Given the description of an element on the screen output the (x, y) to click on. 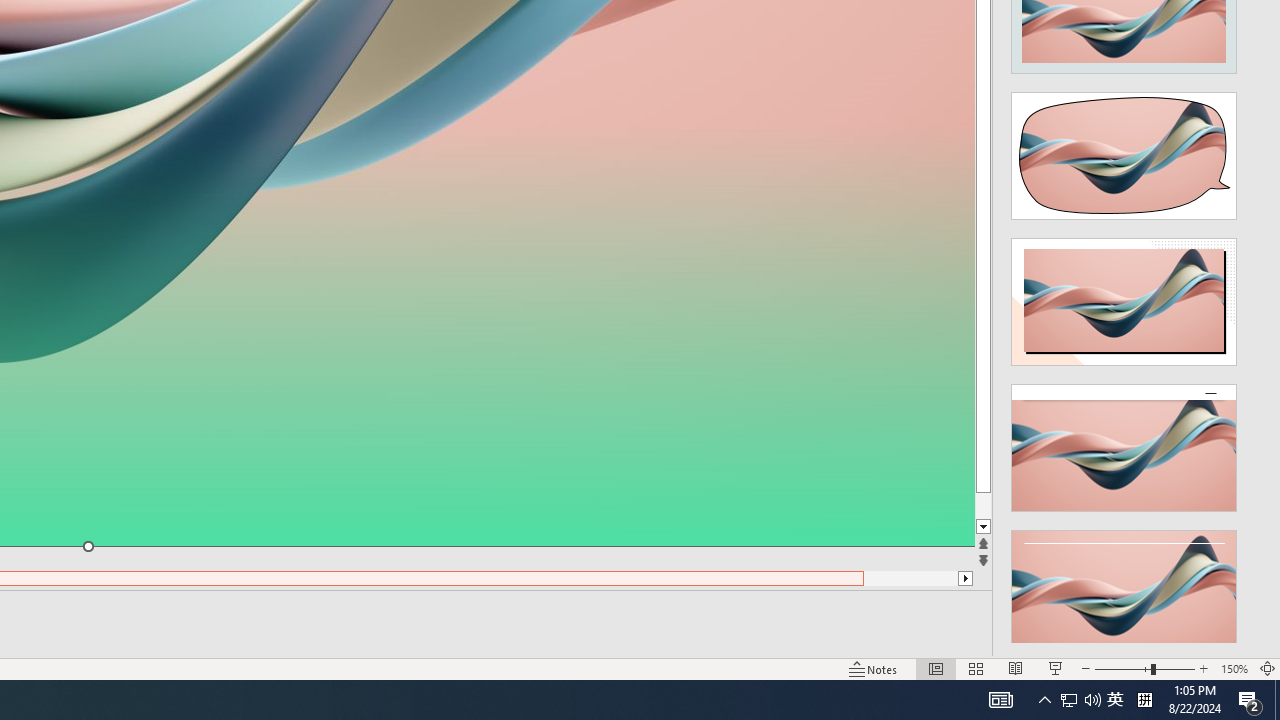
Zoom 150% (1234, 668)
